Given the description of an element on the screen output the (x, y) to click on. 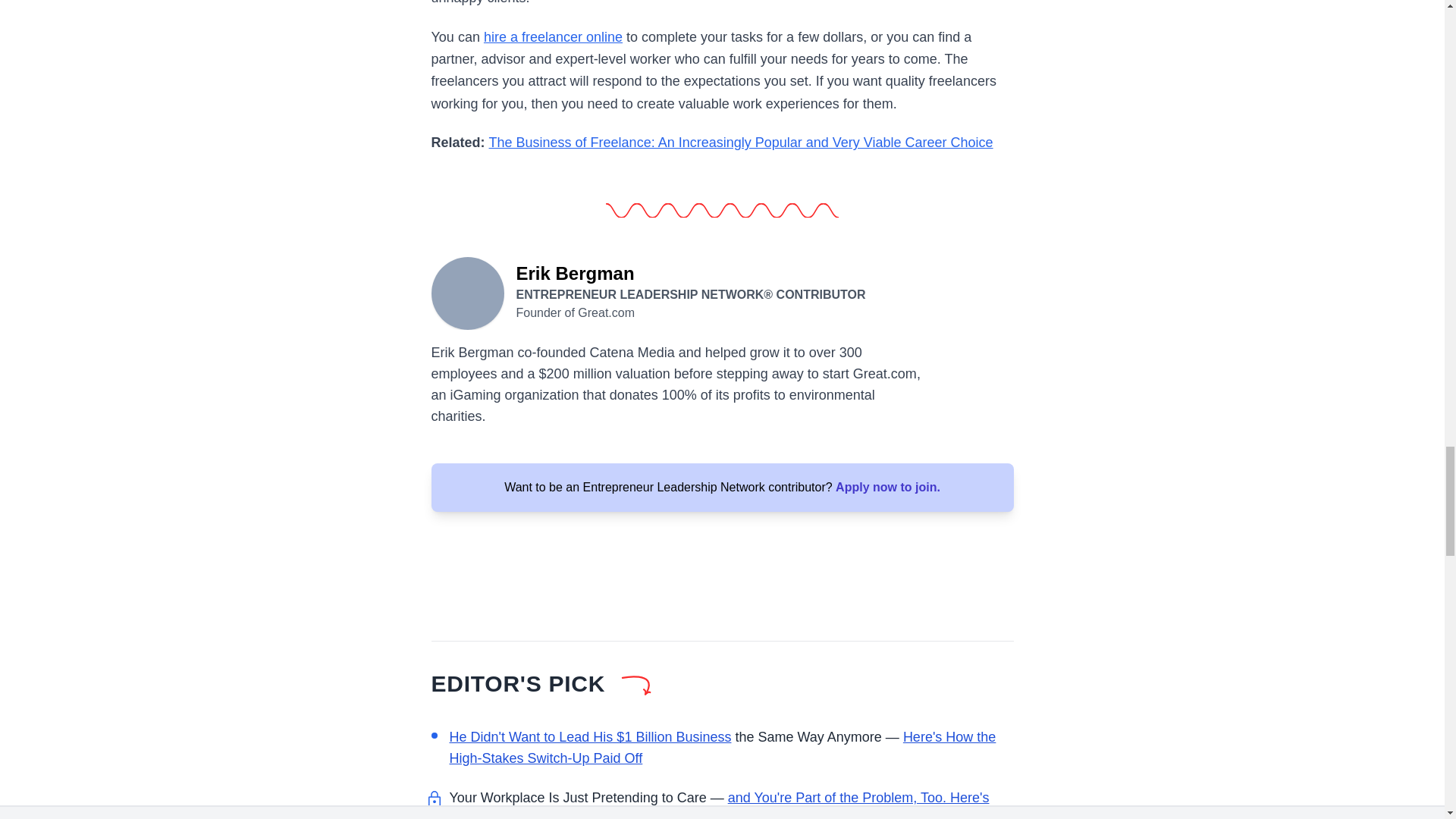
Erik Bergman (466, 291)
